Given the description of an element on the screen output the (x, y) to click on. 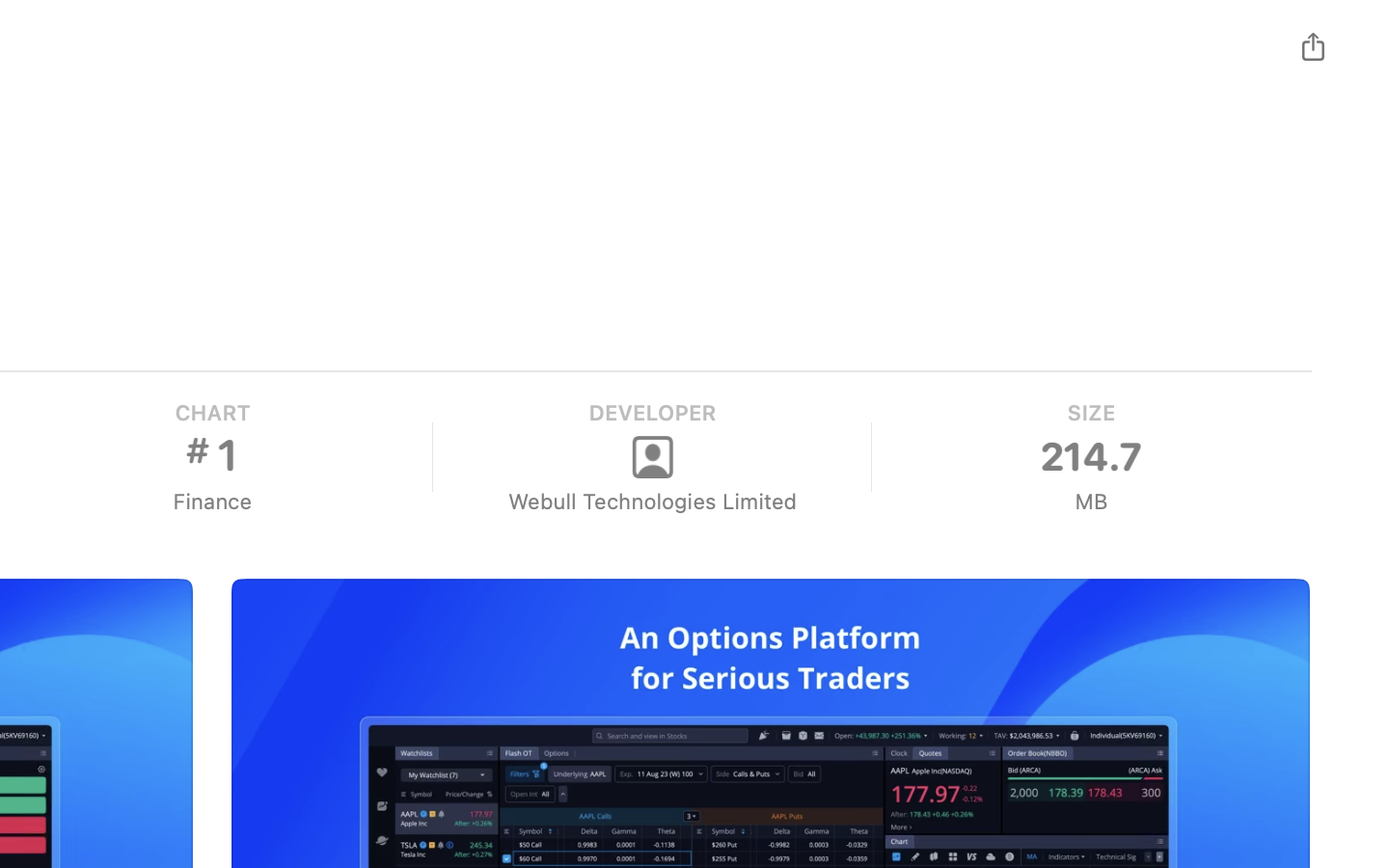
214.7 Element type: AXStaticText (1090, 457)
Finance, CHART, 1 Element type: AXStaticText (210, 456)
1 Element type: AXStaticText (211, 455)
Webull Technologies Limited Element type: AXStaticText (650, 501)
SIZE Element type: AXStaticText (1090, 412)
